Given the description of an element on the screen output the (x, y) to click on. 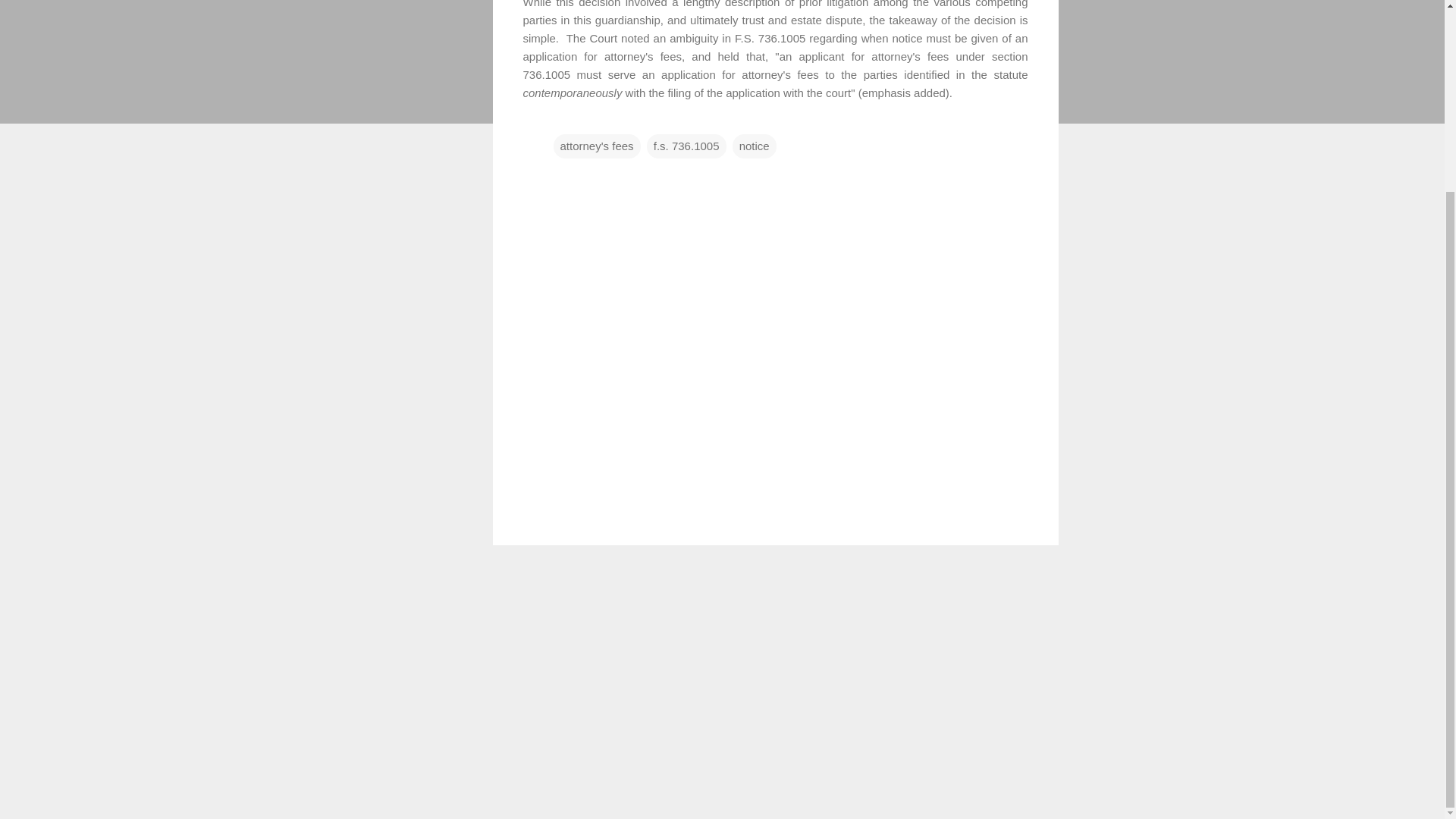
notice (754, 146)
attorney's fees (596, 146)
f.s. 736.1005 (686, 146)
